Given the description of an element on the screen output the (x, y) to click on. 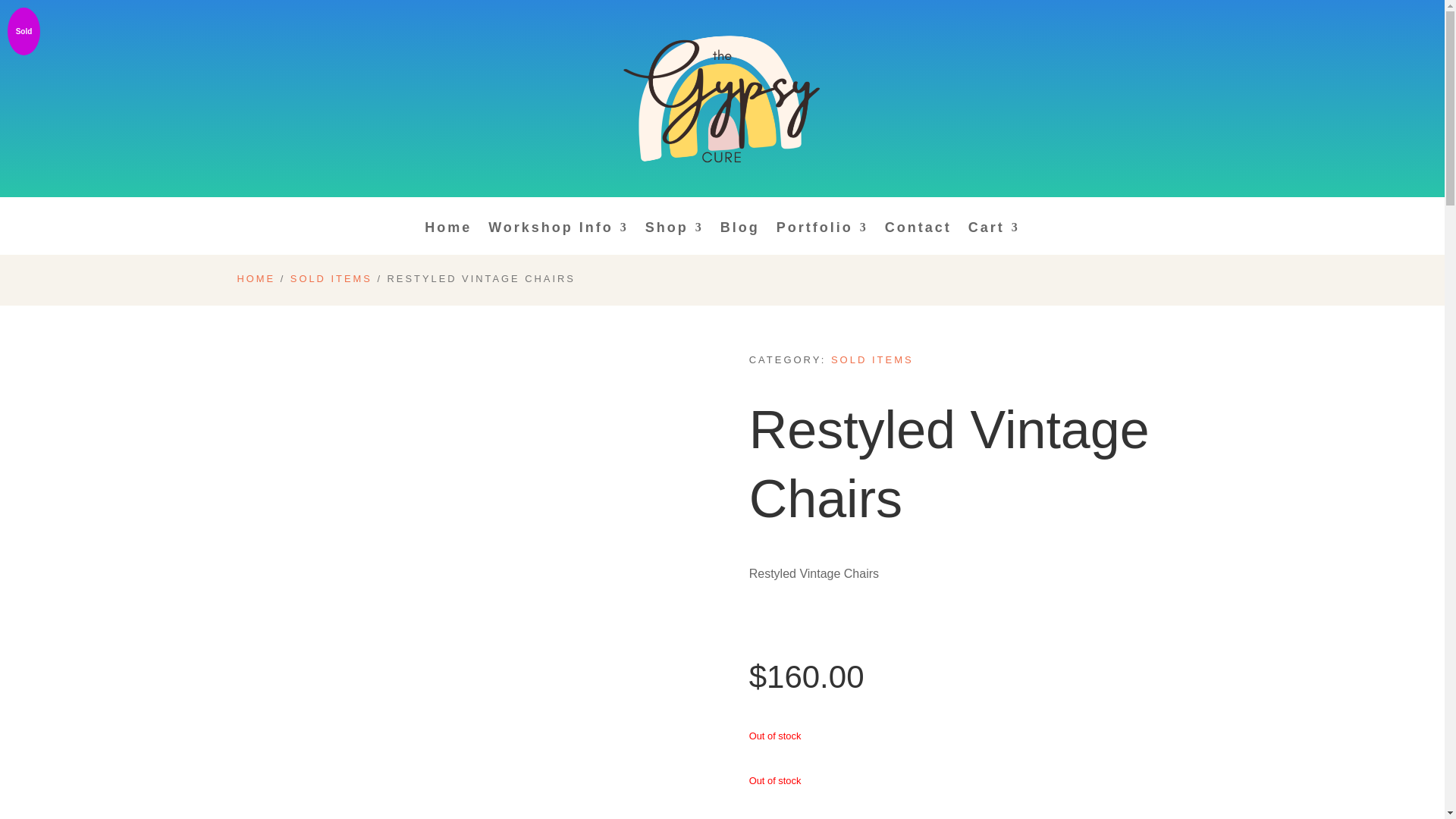
SOLD ITEMS (872, 359)
Home (448, 237)
Shop (674, 237)
Blog (740, 237)
Cart (994, 237)
Contact (918, 237)
SOLD ITEMS (330, 278)
Workshop Info (557, 237)
Portfolio (821, 237)
HOME (255, 278)
